Given the description of an element on the screen output the (x, y) to click on. 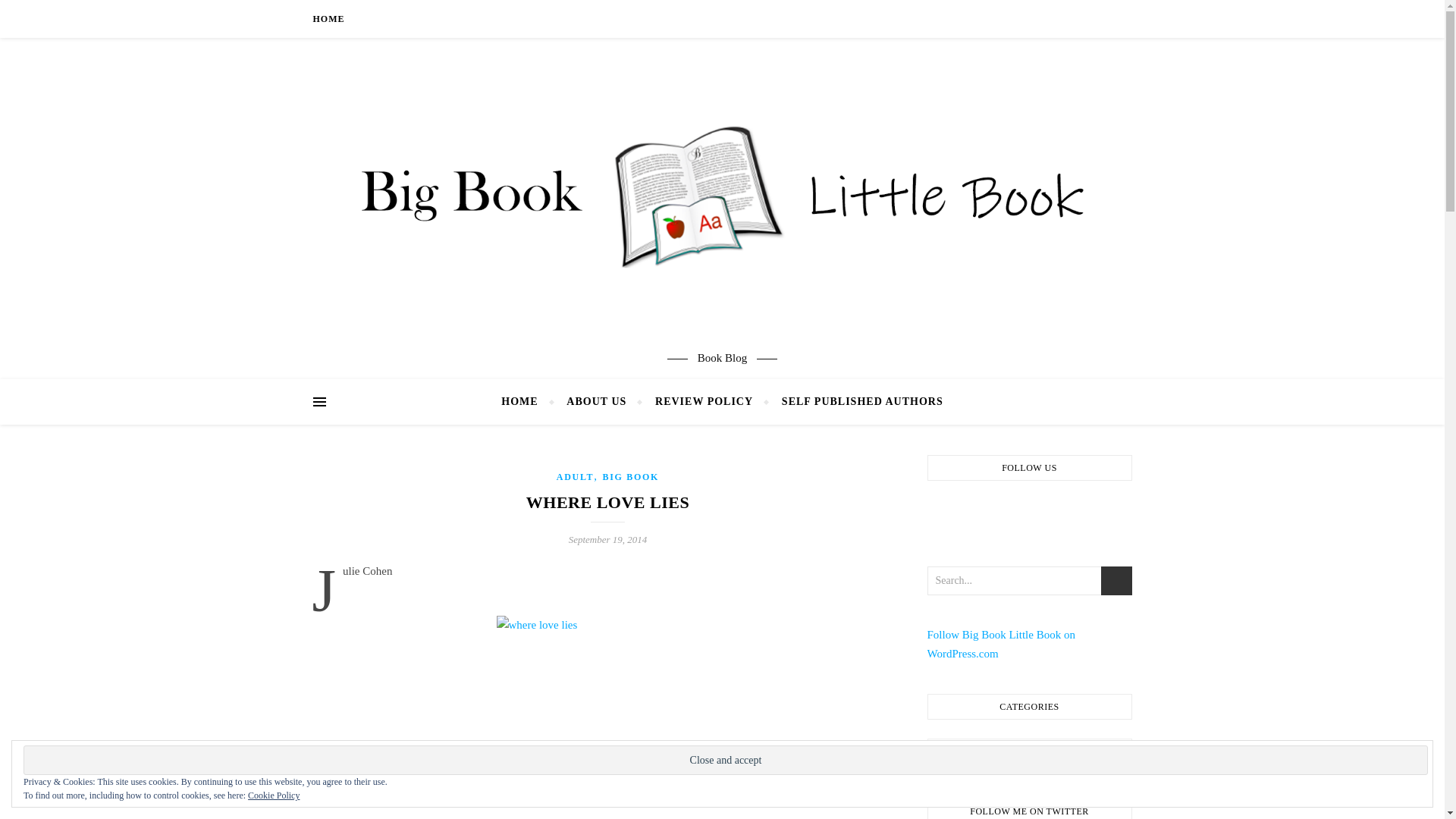
ADULT (575, 476)
SELF PUBLISHED AUTHORS (855, 402)
Close and accept (725, 759)
ABOUT US (596, 402)
BIG BOOK (630, 476)
REVIEW POLICY (703, 402)
HOME (525, 402)
